Given the description of an element on the screen output the (x, y) to click on. 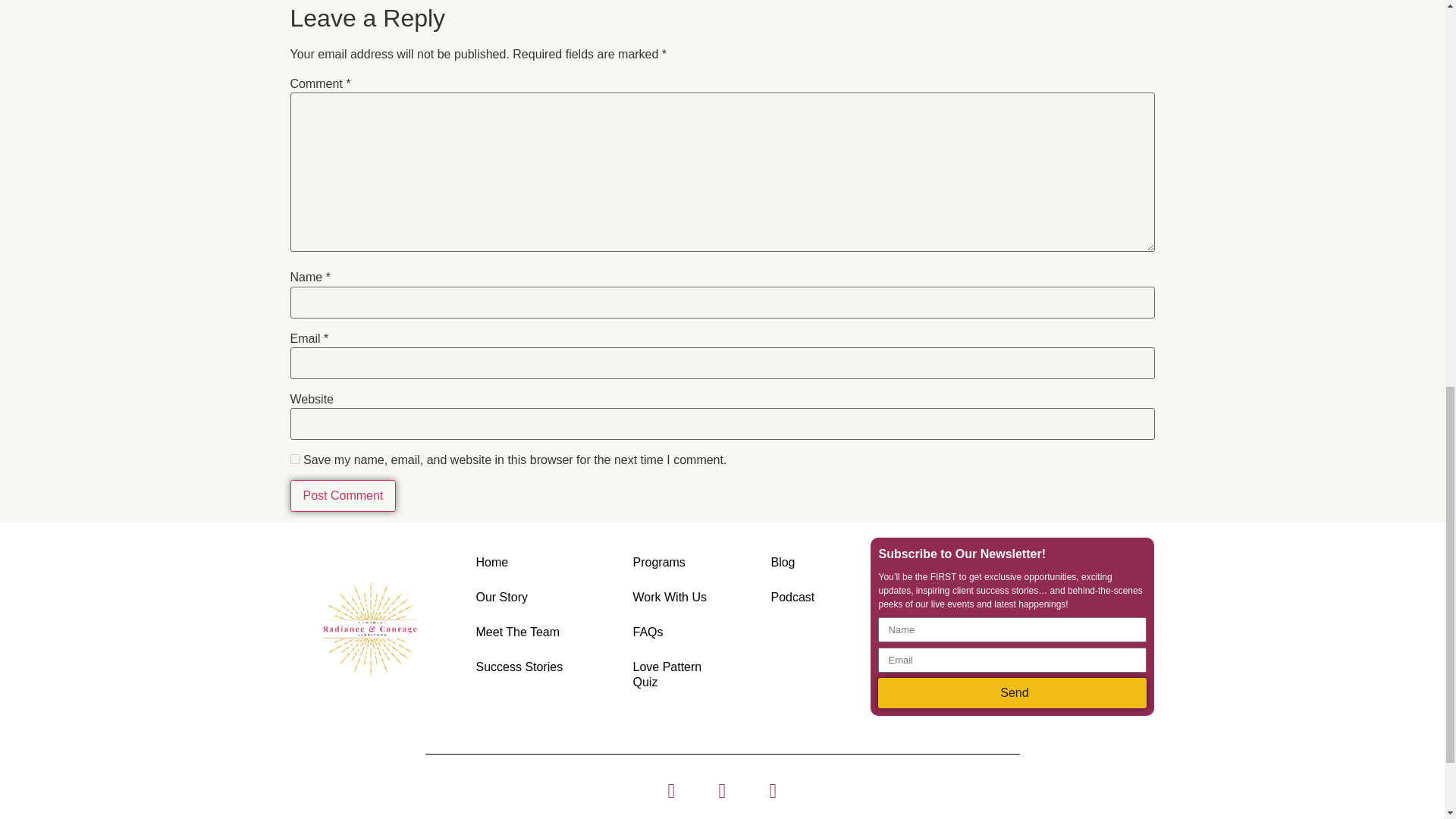
Post Comment (342, 495)
yes (294, 459)
